Given the description of an element on the screen output the (x, y) to click on. 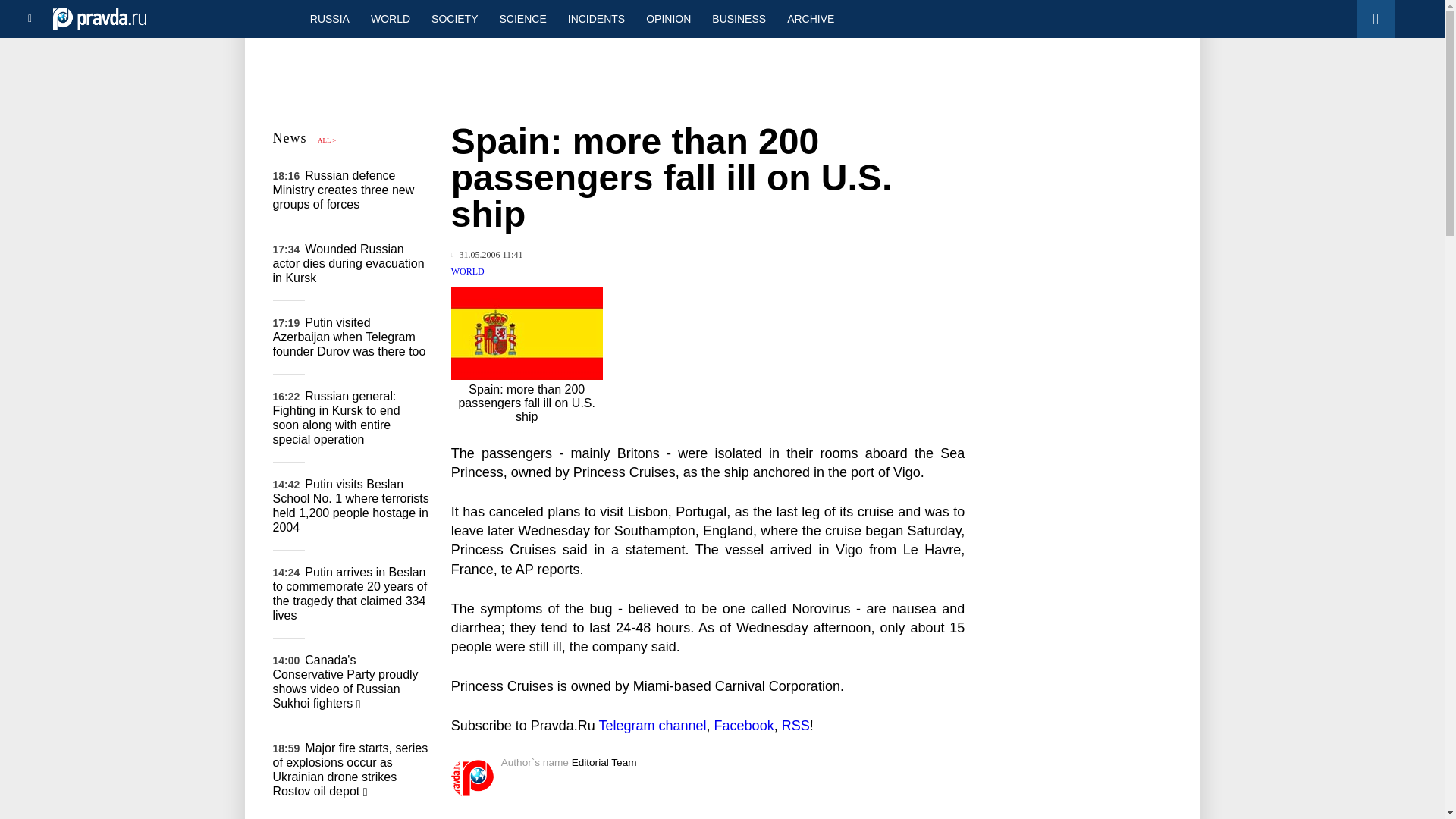
RSS (795, 725)
Telegram channel (652, 725)
OPINION (667, 18)
Published (486, 255)
News (290, 137)
BUSINESS (738, 18)
SCIENCE (523, 18)
ARCHIVE (810, 18)
